Given the description of an element on the screen output the (x, y) to click on. 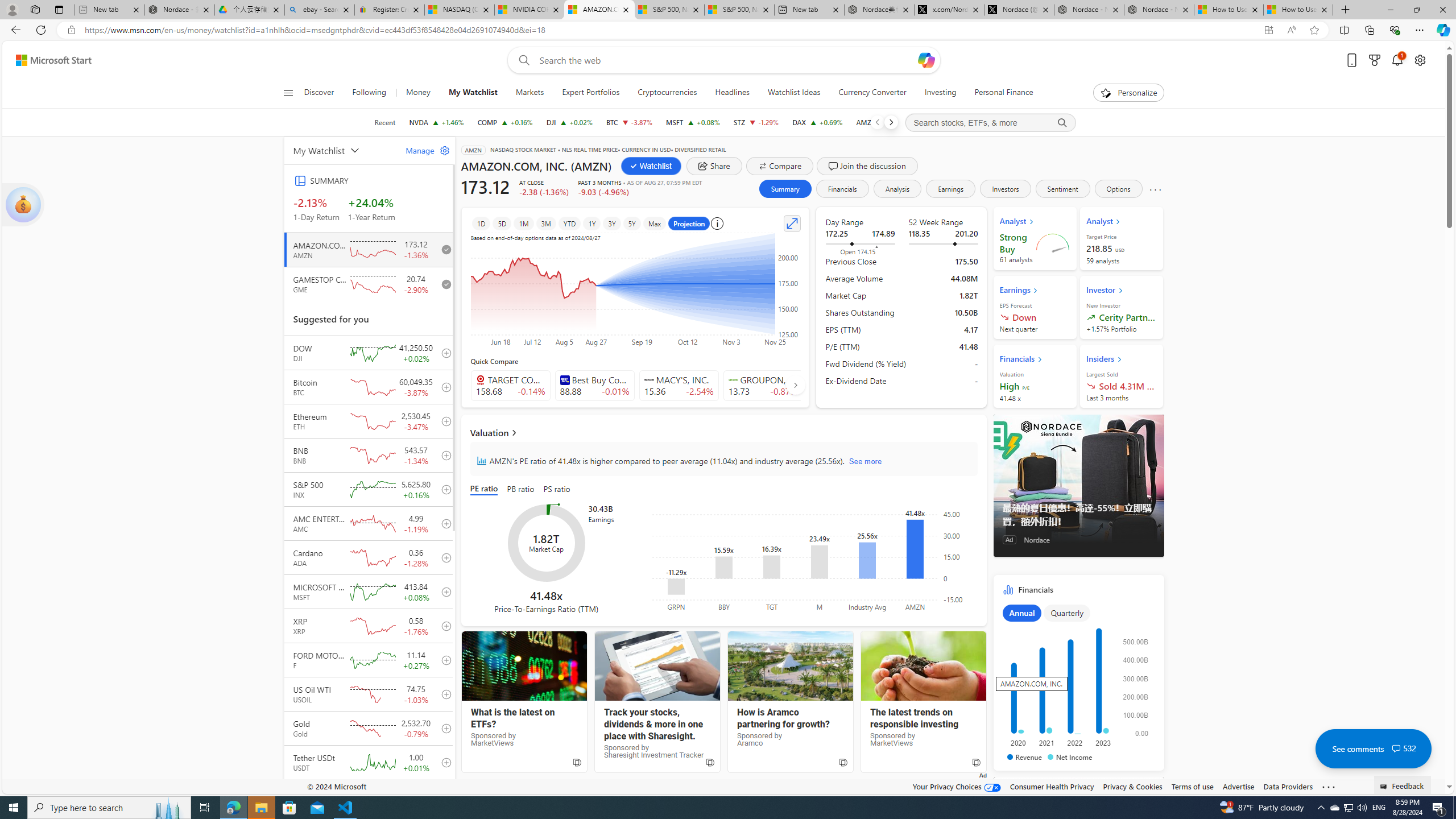
Search stocks, ETFs, & more (989, 122)
Max (654, 223)
Personal Finance (1003, 92)
Class: chartSvg (1075, 680)
ebay - Search (319, 9)
Your Privacy Choices (956, 785)
Your Privacy Choices (956, 786)
S&P 500, Nasdaq end lower, weighed by Nvidia dip | Watch (738, 9)
Markets (529, 92)
Nordace (@NordaceOfficial) / X (1018, 9)
AutomationID: finance_carousel_navi_arrow (795, 385)
Investing (940, 92)
Data Providers (1288, 786)
